Given the description of an element on the screen output the (x, y) to click on. 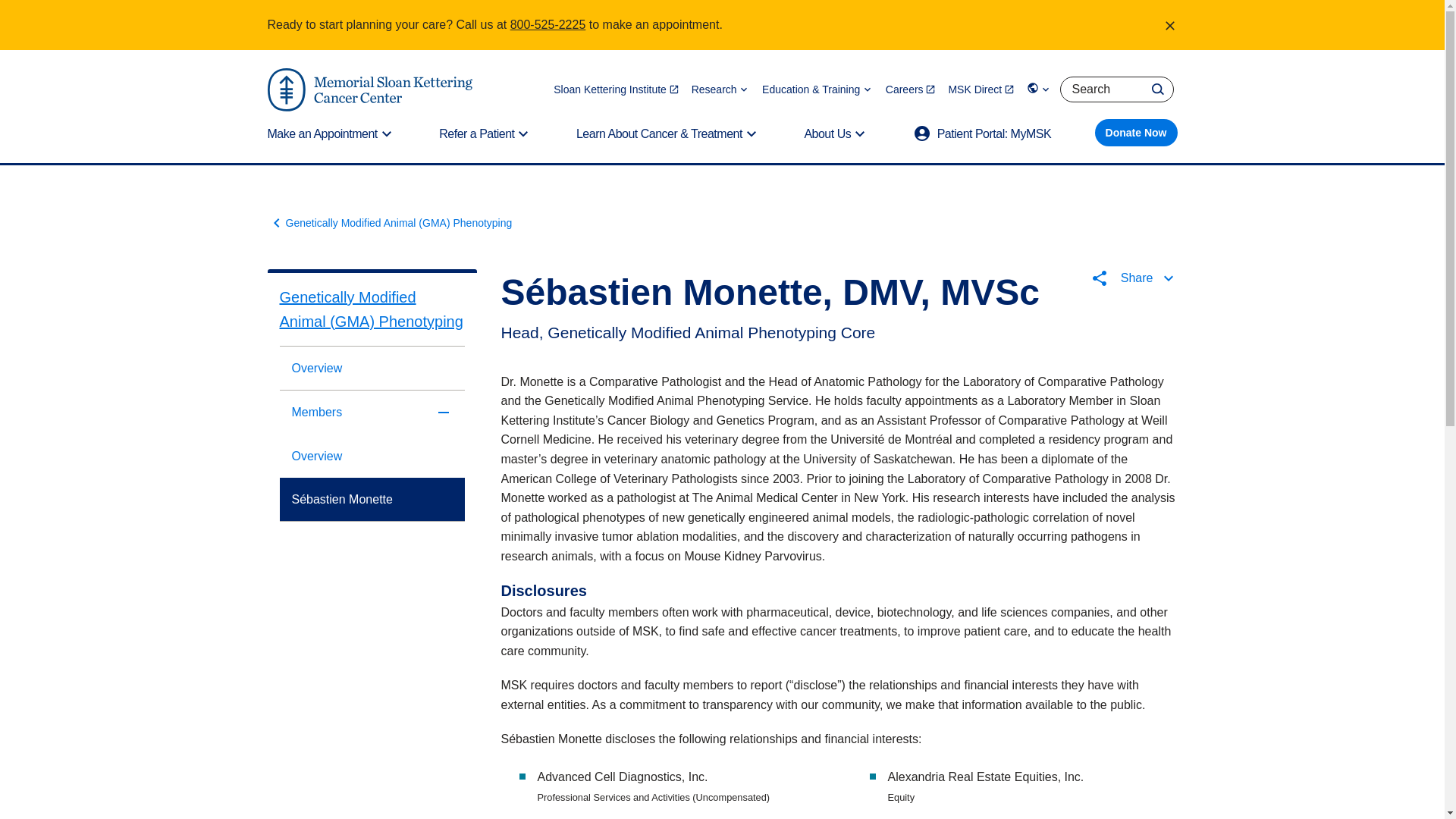
Sloan Kettering Institute (615, 89)
Donate Now (1135, 132)
Careers (910, 89)
Insert a query. Press enter to send (1115, 88)
MSK Direct (980, 89)
Research (720, 89)
800-525-2225 (548, 24)
